Given the description of an element on the screen output the (x, y) to click on. 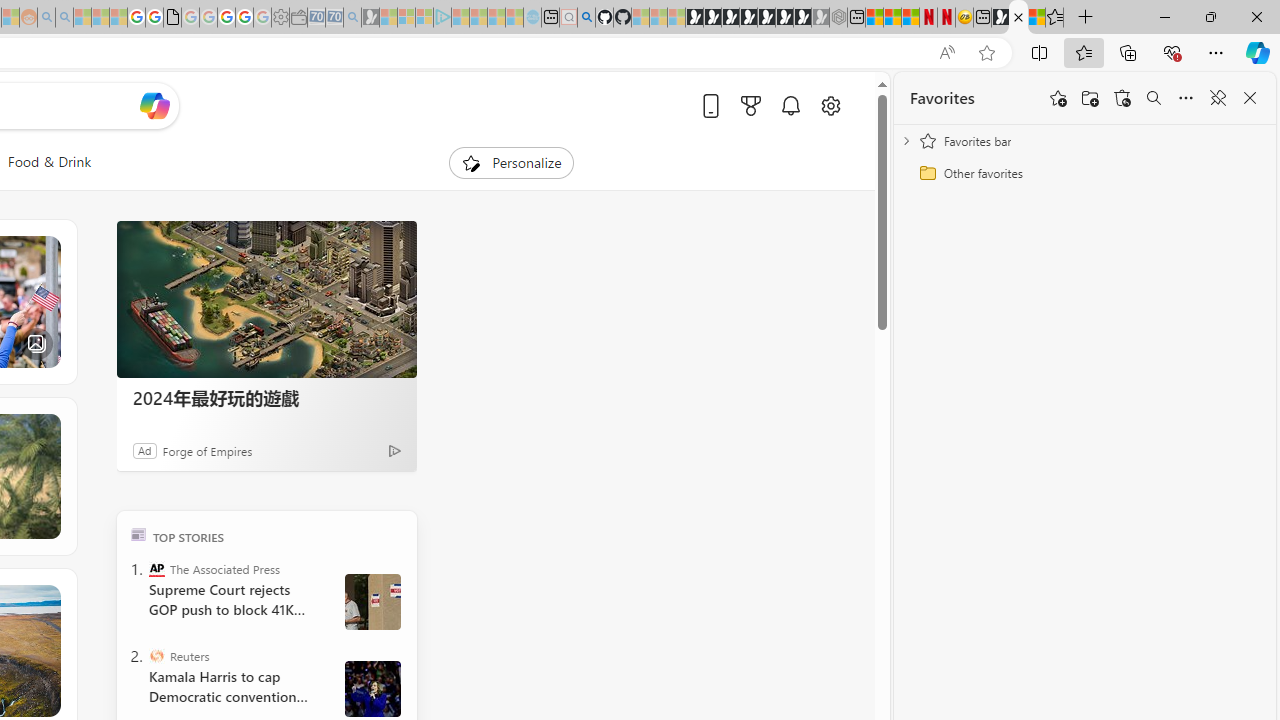
google_privacy_policy_zh-CN.pdf (171, 17)
TOP (138, 534)
github - Search (586, 17)
 Harris and Walz campaign in Wisconsin (372, 688)
The Associated Press (156, 568)
Unpin favorites (1217, 98)
